Given the description of an element on the screen output the (x, y) to click on. 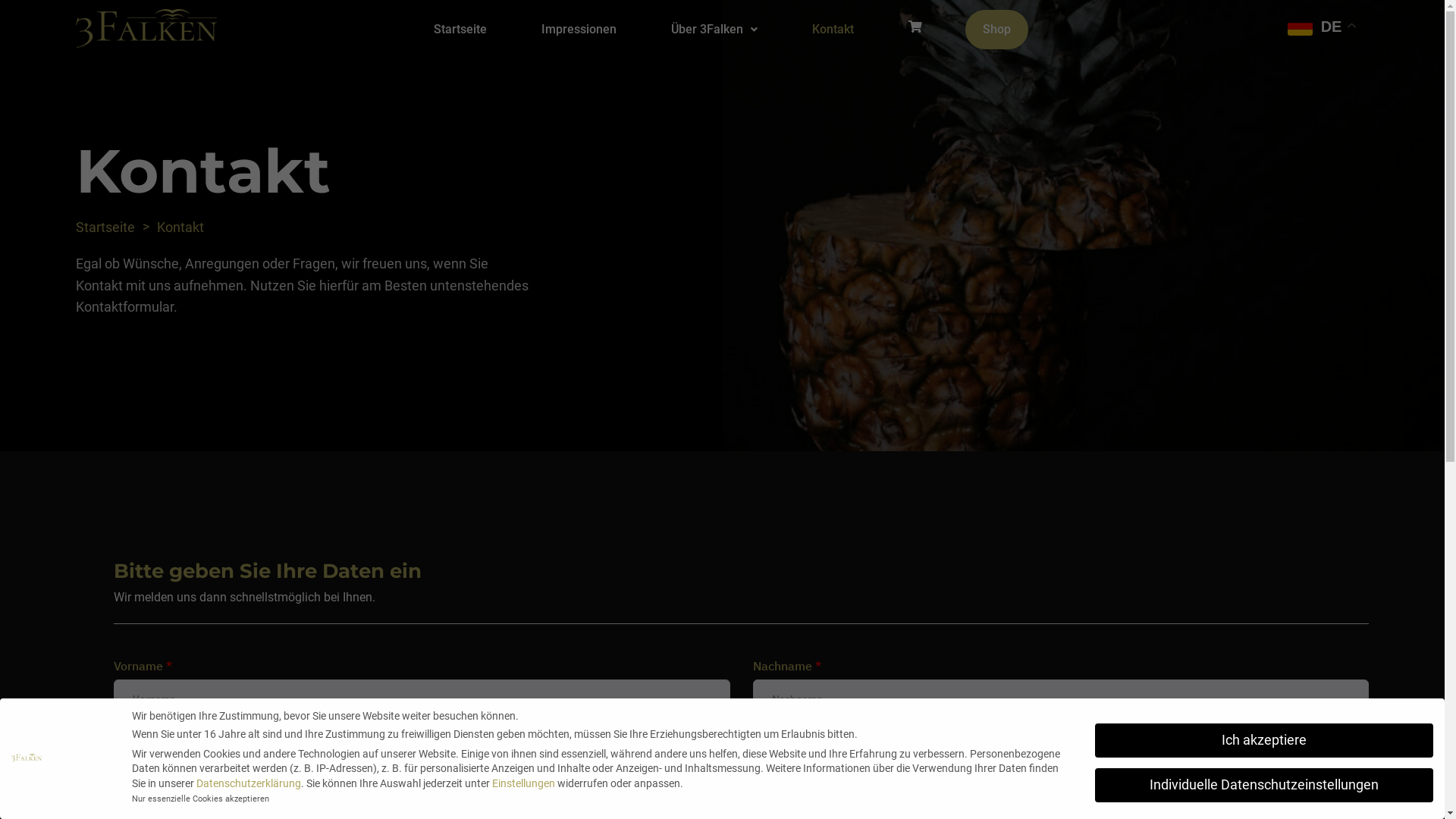
Shop Element type: text (996, 29)
Einstellungen Element type: text (523, 783)
Kontakt Element type: text (832, 29)
Impressionen Element type: text (578, 29)
Startseite Element type: text (460, 29)
Individuelle Datenschutzeinstellungen Element type: text (1264, 785)
Startseite Element type: text (104, 228)
Ich akzeptiere Element type: text (1264, 740)
Kontakt Element type: text (179, 228)
Nur essenzielle Cookies akzeptieren Element type: text (200, 798)
